Given the description of an element on the screen output the (x, y) to click on. 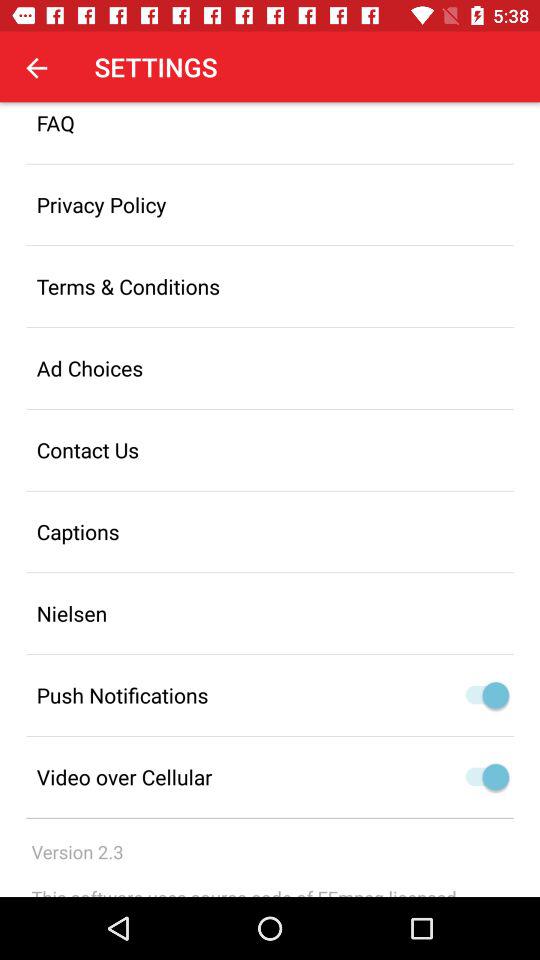
press this button to be notified (495, 695)
